Given the description of an element on the screen output the (x, y) to click on. 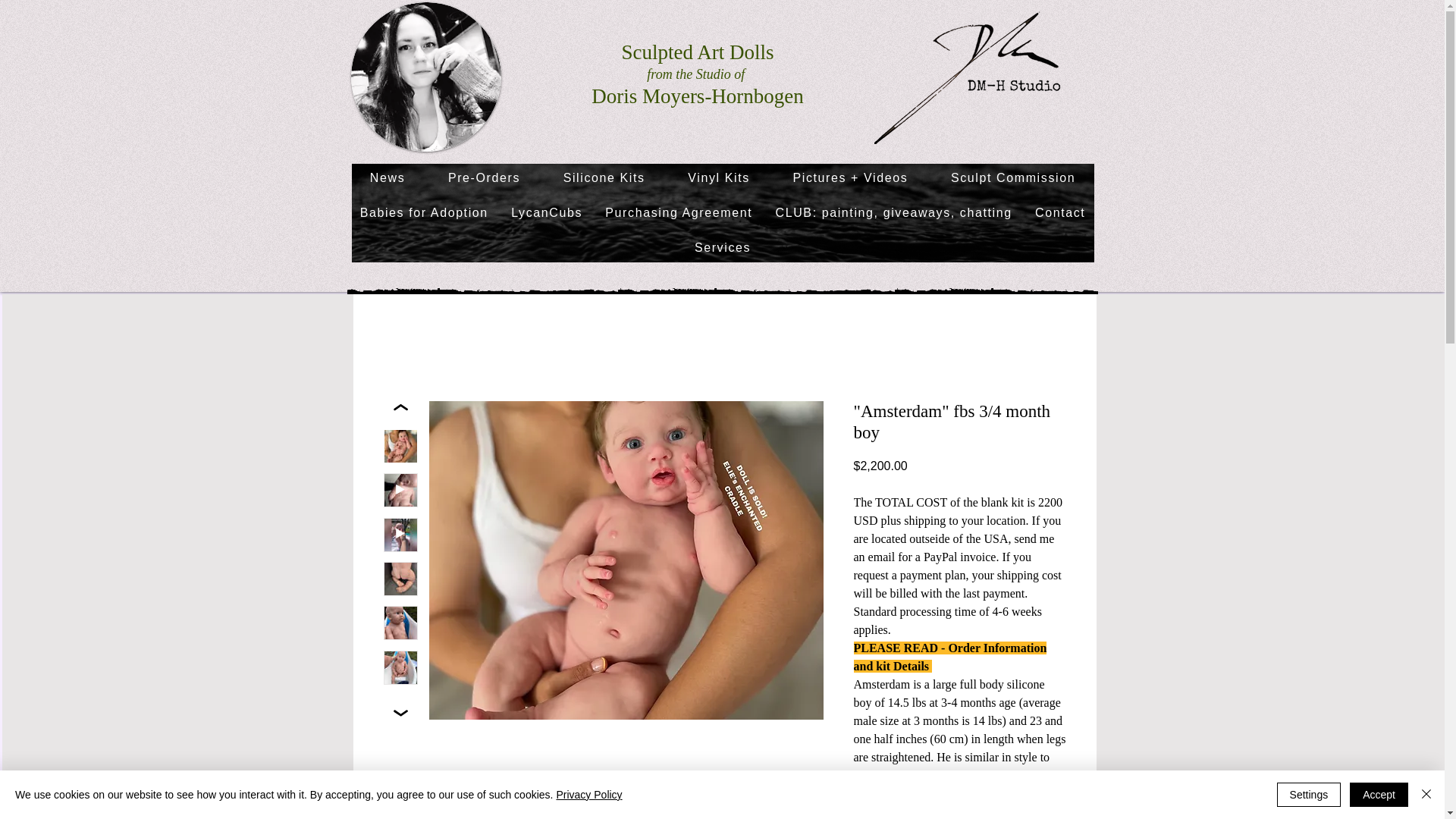
Contact (1060, 213)
Babies for Adoption (424, 213)
Vinyl Kits (718, 177)
Silicone Kits (603, 177)
Sculpt Commission (1013, 177)
LycanCubs (546, 213)
News (387, 177)
Services (723, 247)
CLUB: painting, giveaways, chatting (893, 213)
Purchasing Agreement (678, 213)
Pre-Orders (483, 177)
